Given the description of an element on the screen output the (x, y) to click on. 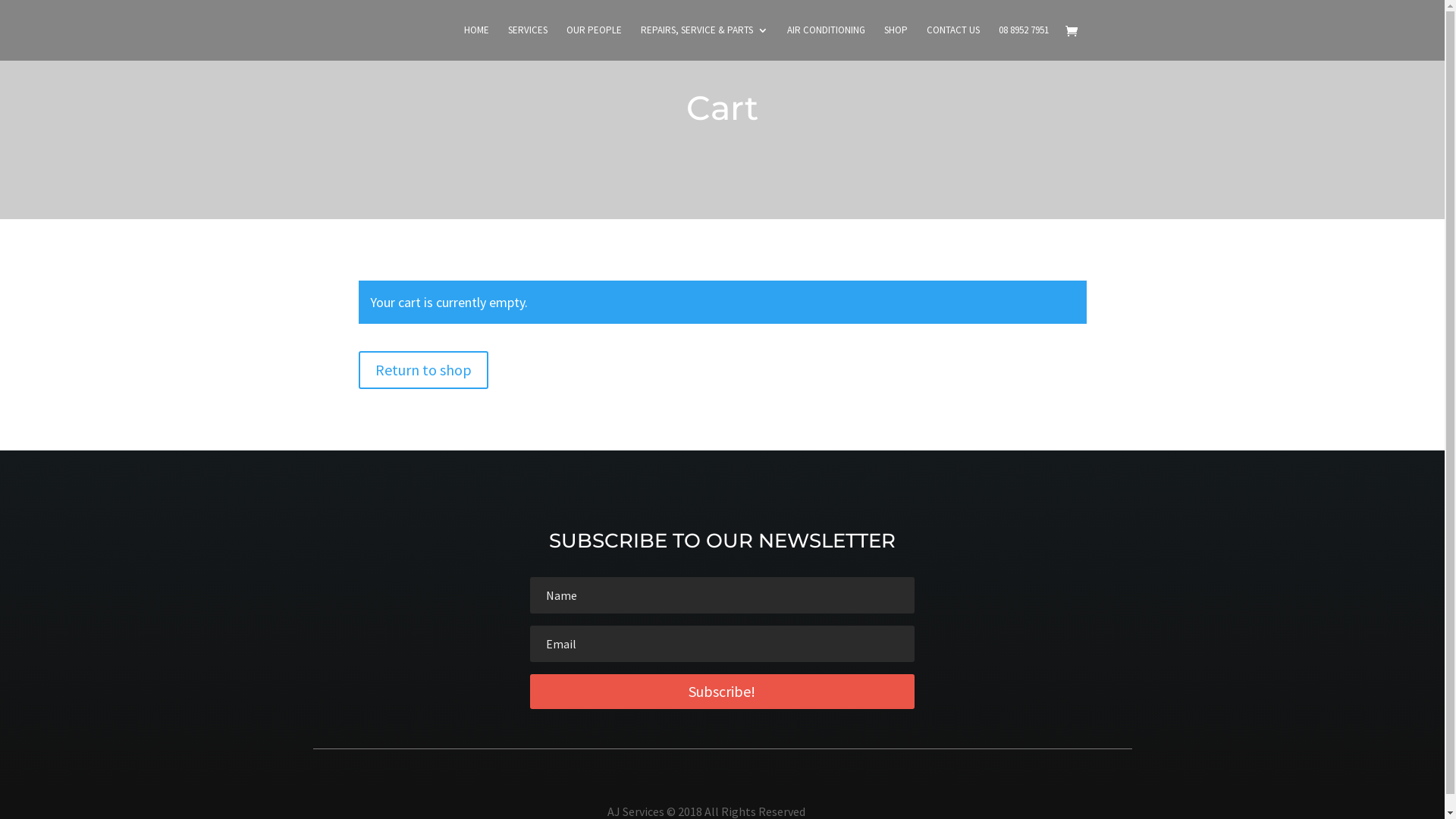
OUR PEOPLE Element type: text (593, 42)
AIR CONDITIONING Element type: text (826, 42)
REPAIRS, SERVICE & PARTS Element type: text (703, 42)
SHOP Element type: text (895, 42)
08 8952 7951 Element type: text (1022, 42)
HOME Element type: text (476, 42)
SERVICES Element type: text (527, 42)
Subscribe! Element type: text (721, 691)
Return to shop Element type: text (422, 370)
CONTACT US Element type: text (952, 42)
